Given the description of an element on the screen output the (x, y) to click on. 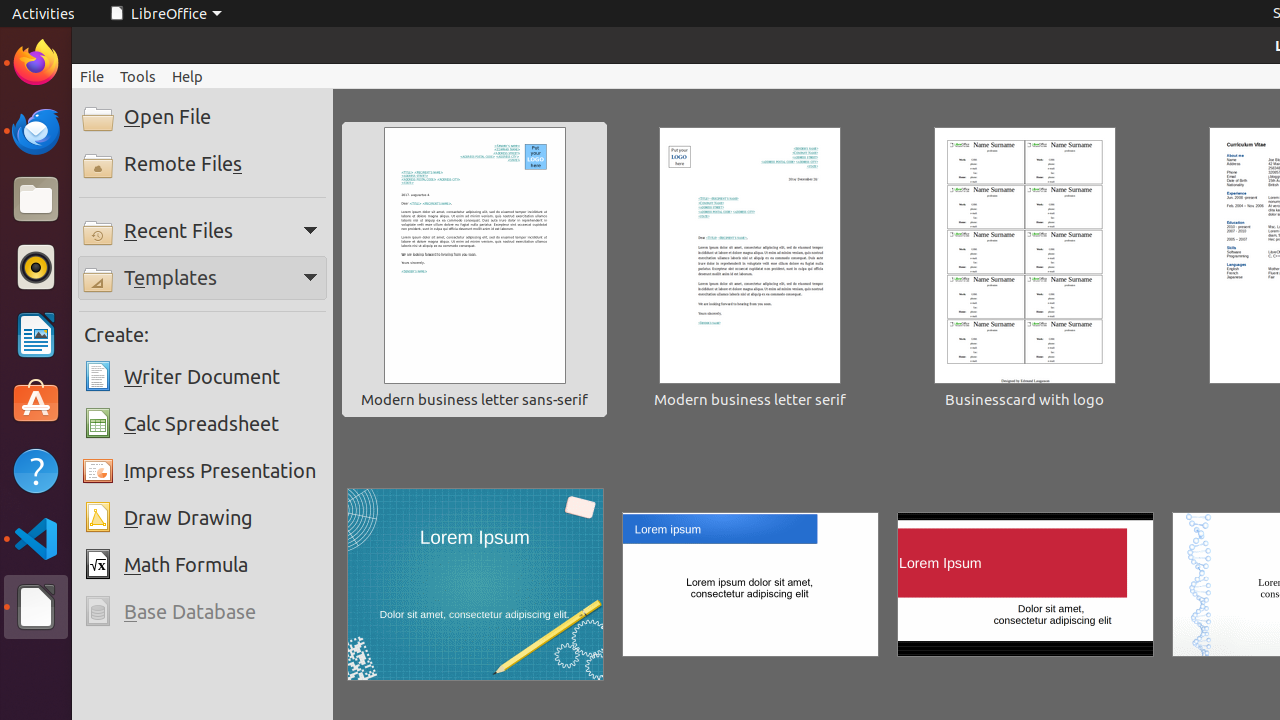
Modern business letter sans-serif Element type: list-item (475, 270)
Writer Document Element type: push-button (202, 377)
Draw Drawing Element type: push-button (202, 518)
Recent Files Element type: push-button (202, 230)
LibreOffice Element type: menu (165, 13)
